Given the description of an element on the screen output the (x, y) to click on. 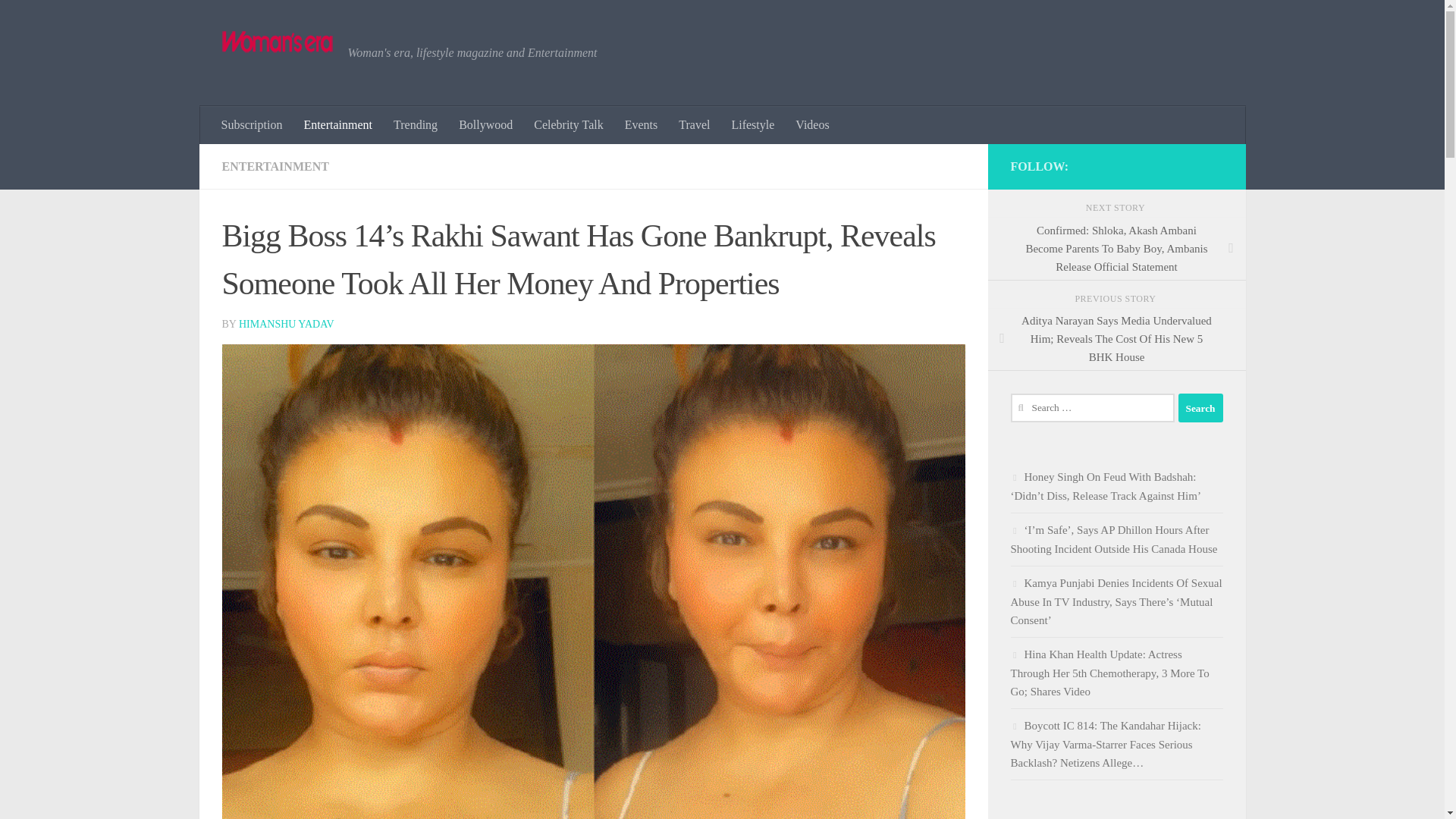
Celebrity Talk (567, 125)
Bollywood (485, 125)
Search (1200, 407)
Videos (812, 125)
Search (1200, 407)
Posts by Himanshu Yadav (286, 324)
Entertainment (337, 125)
ENTERTAINMENT (275, 165)
Search (1200, 407)
